Given the description of an element on the screen output the (x, y) to click on. 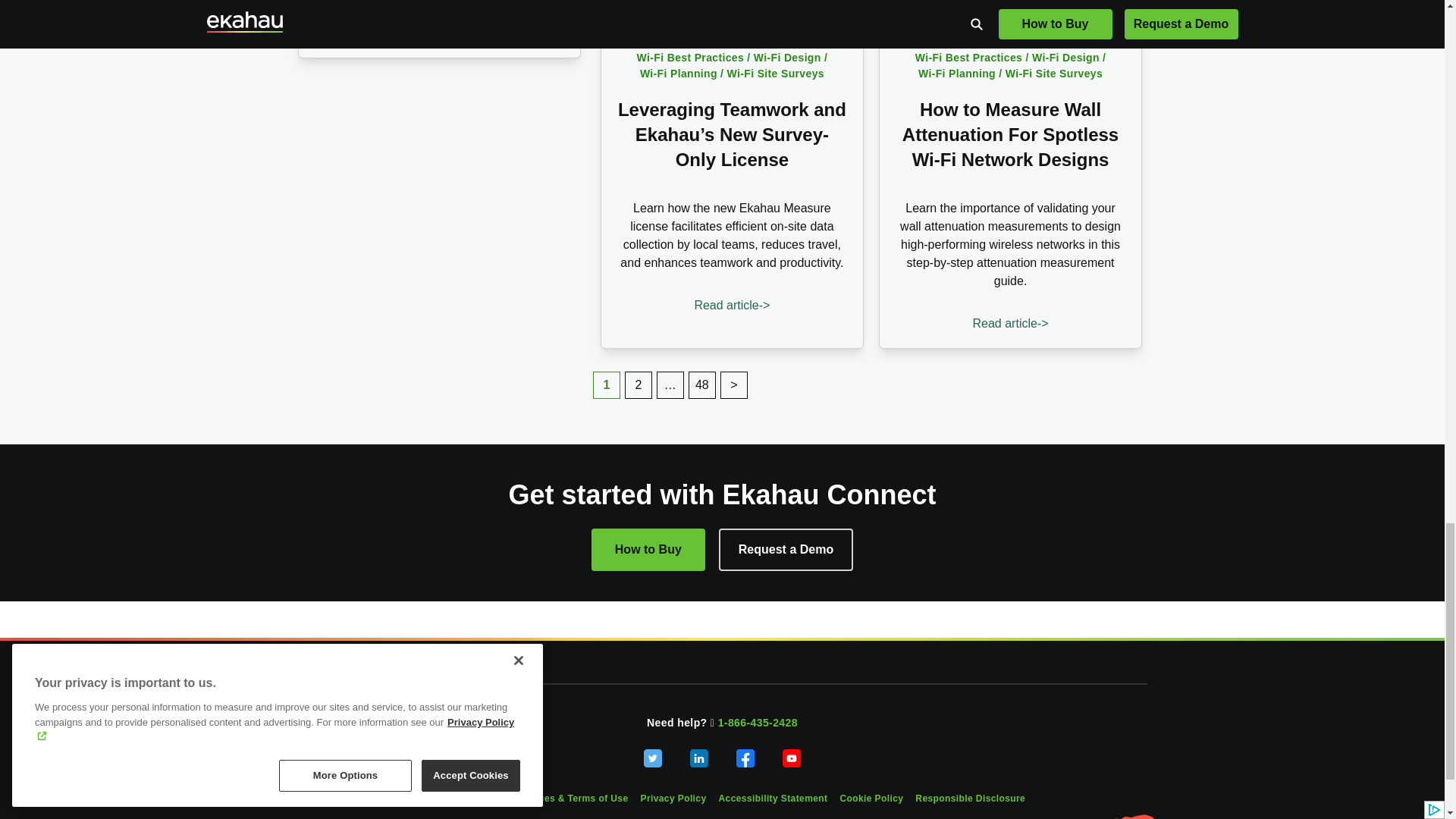
Webinars (342, 29)
Videos (335, 1)
White Papers (352, 11)
